Given the description of an element on the screen output the (x, y) to click on. 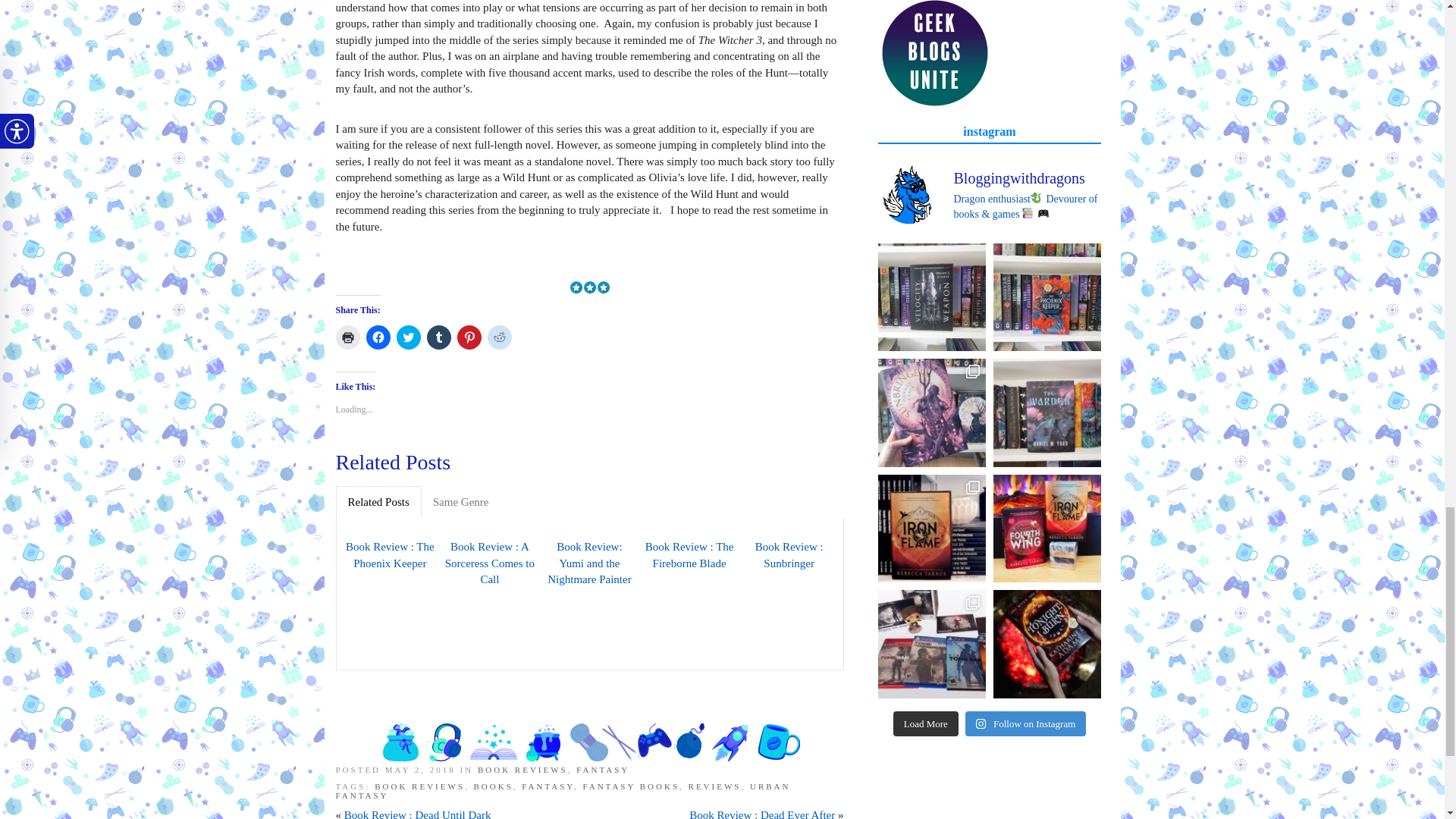
Click to share on Reddit (498, 337)
Click to share on Facebook (377, 337)
Click to share on Pinterest (468, 337)
View all posts in Fantasy (602, 768)
Book Review : A Sorceress Comes to Call (489, 563)
Related Posts (378, 501)
Click to share on Tumblr (437, 337)
Book Review: Yumi and the Nightmare Painter (590, 563)
Click to share on Twitter (408, 337)
View all posts in Book Reviews (522, 768)
Click to print (346, 337)
Book Review : The Phoenix Keeper (389, 555)
Same Genre (461, 501)
